Given the description of an element on the screen output the (x, y) to click on. 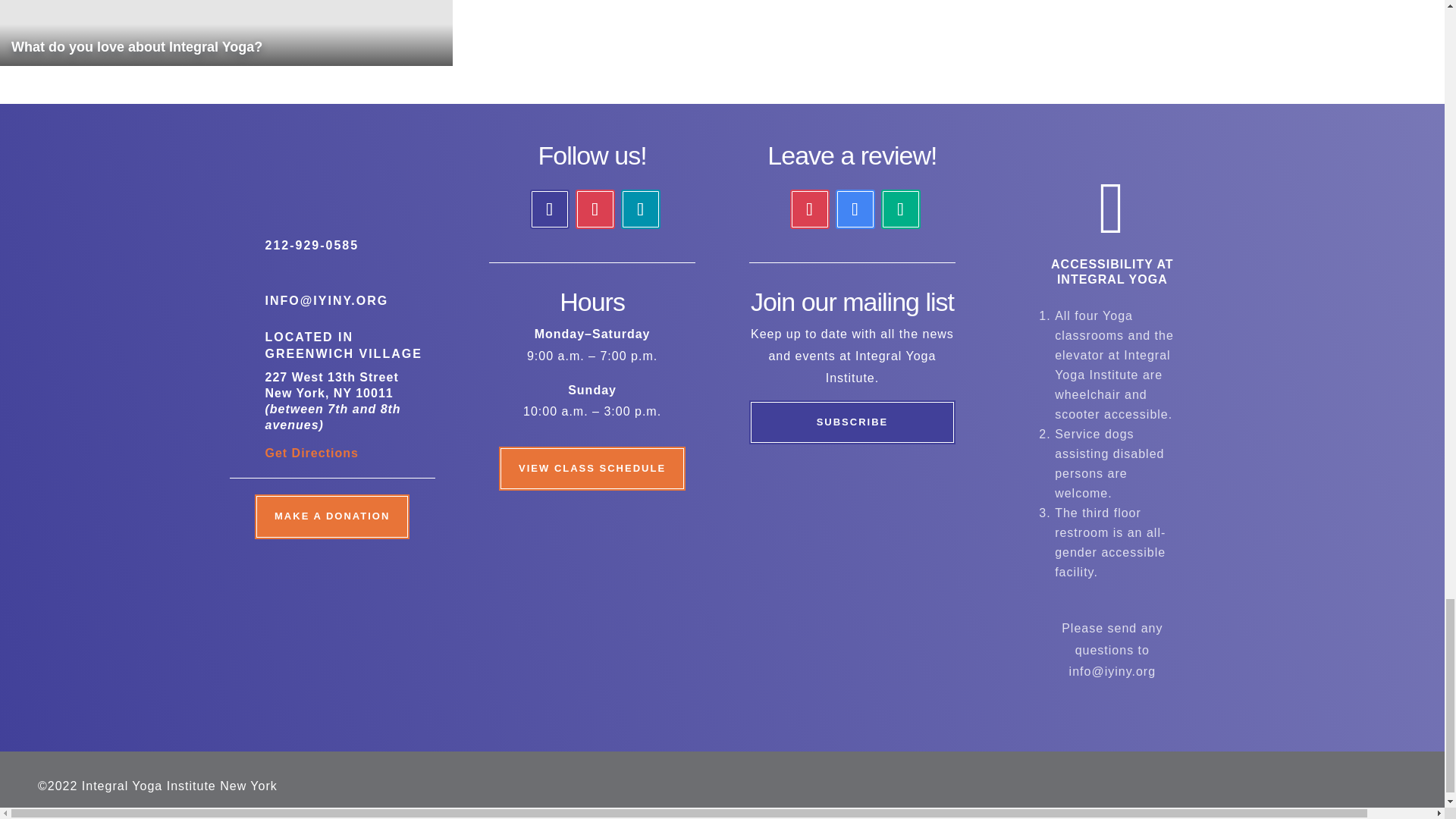
Follow on TripAdvisor (900, 209)
Follow on Instagram (594, 209)
What do you love about Integral Yoga? (226, 33)
Follow on X (641, 209)
Follow on Yelp (809, 209)
Follow on Facebook (549, 209)
IYINY Logo White (330, 173)
Follow on Google (855, 209)
